Given the description of an element on the screen output the (x, y) to click on. 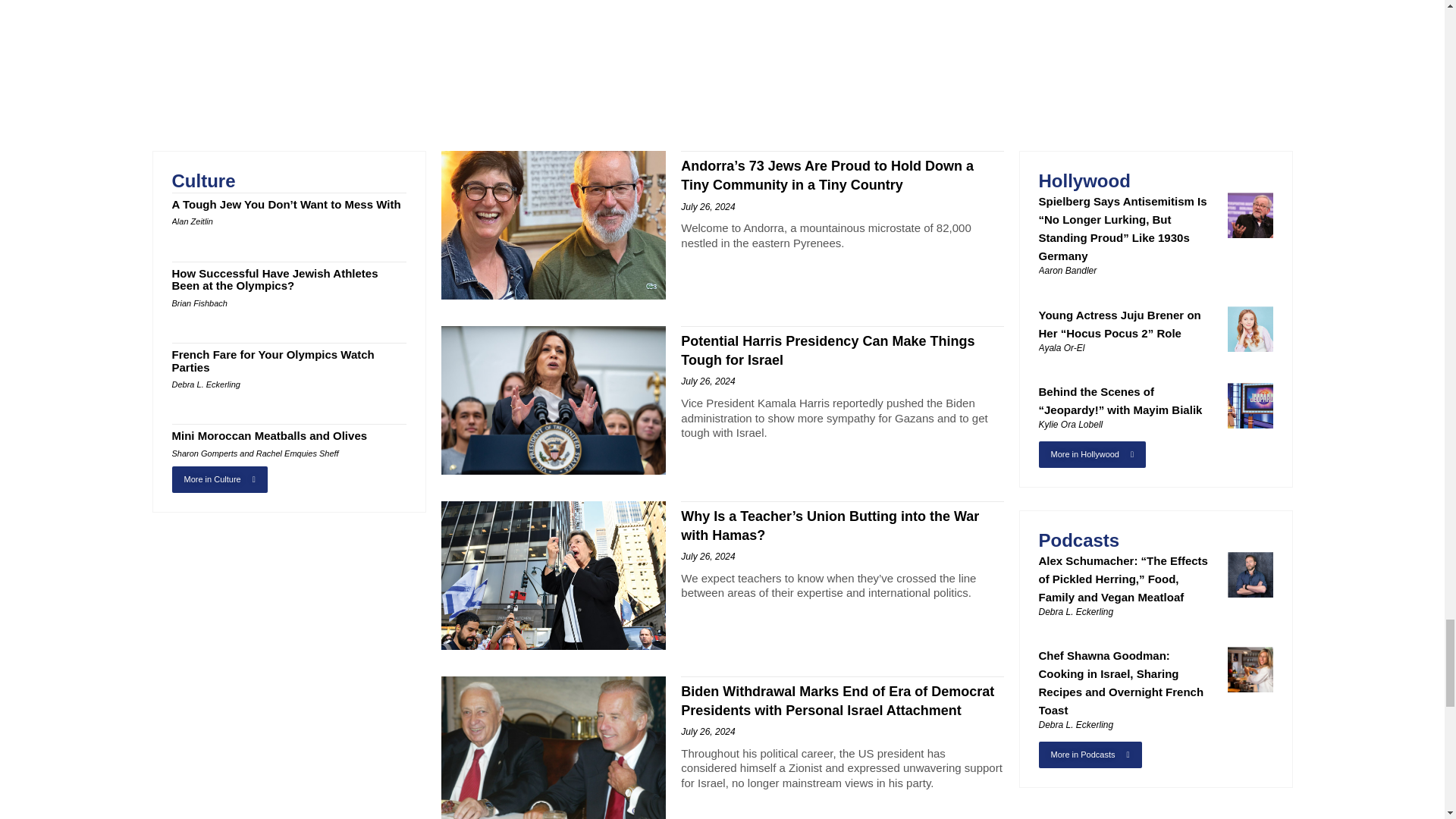
3rd party ad content (721, 59)
